Given the description of an element on the screen output the (x, y) to click on. 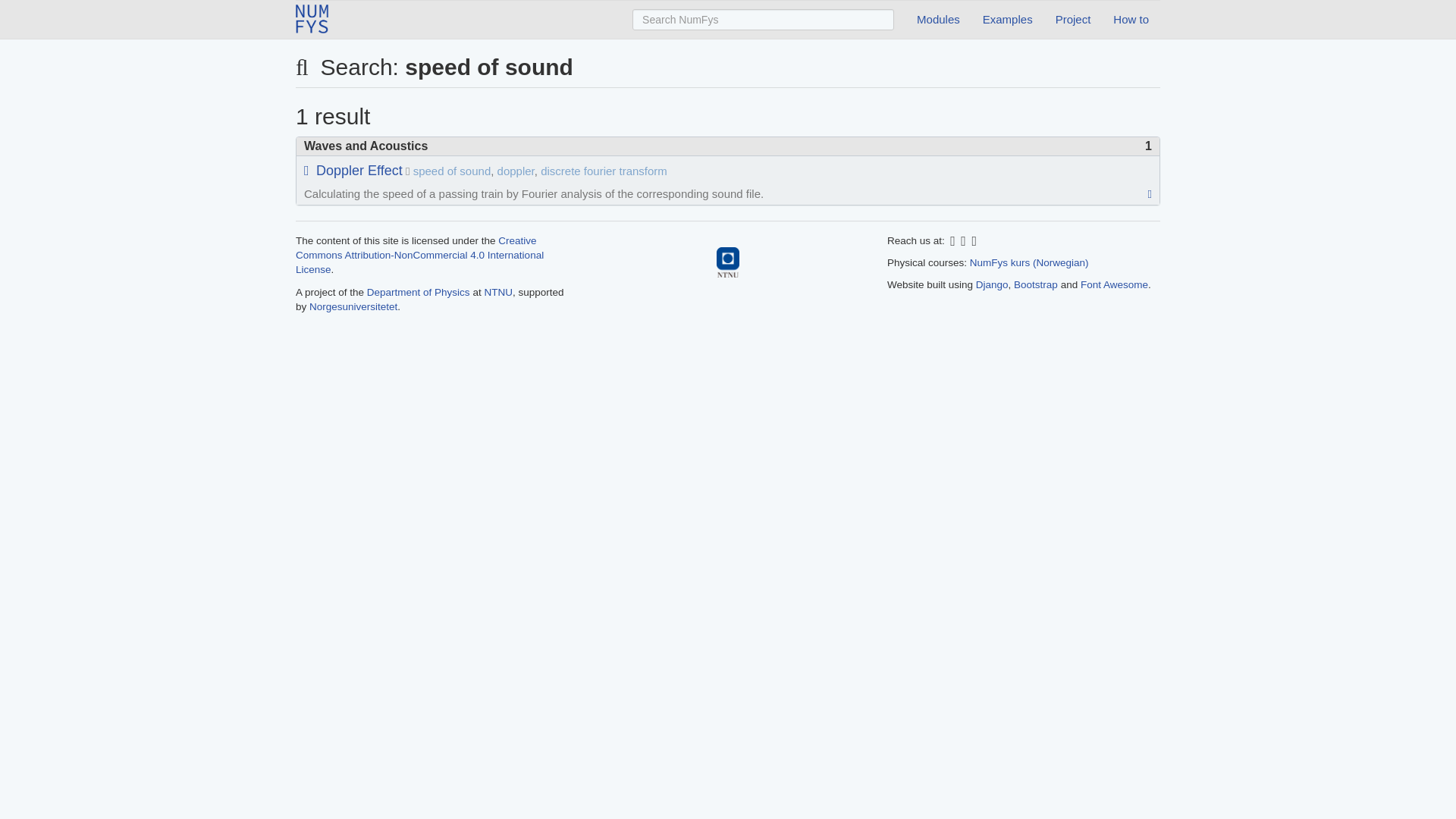
NTNU (497, 292)
Norgesuniversitetet (352, 306)
  Doppler Effect (353, 170)
speed of sound (452, 170)
Examples (1007, 19)
doppler (515, 170)
Bootstrap (1035, 284)
Font Awesome (1114, 284)
Project (1072, 19)
discrete fourier transform (603, 170)
Modules (938, 19)
Department of Physics (418, 292)
Django (992, 284)
How to (1131, 19)
